Given the description of an element on the screen output the (x, y) to click on. 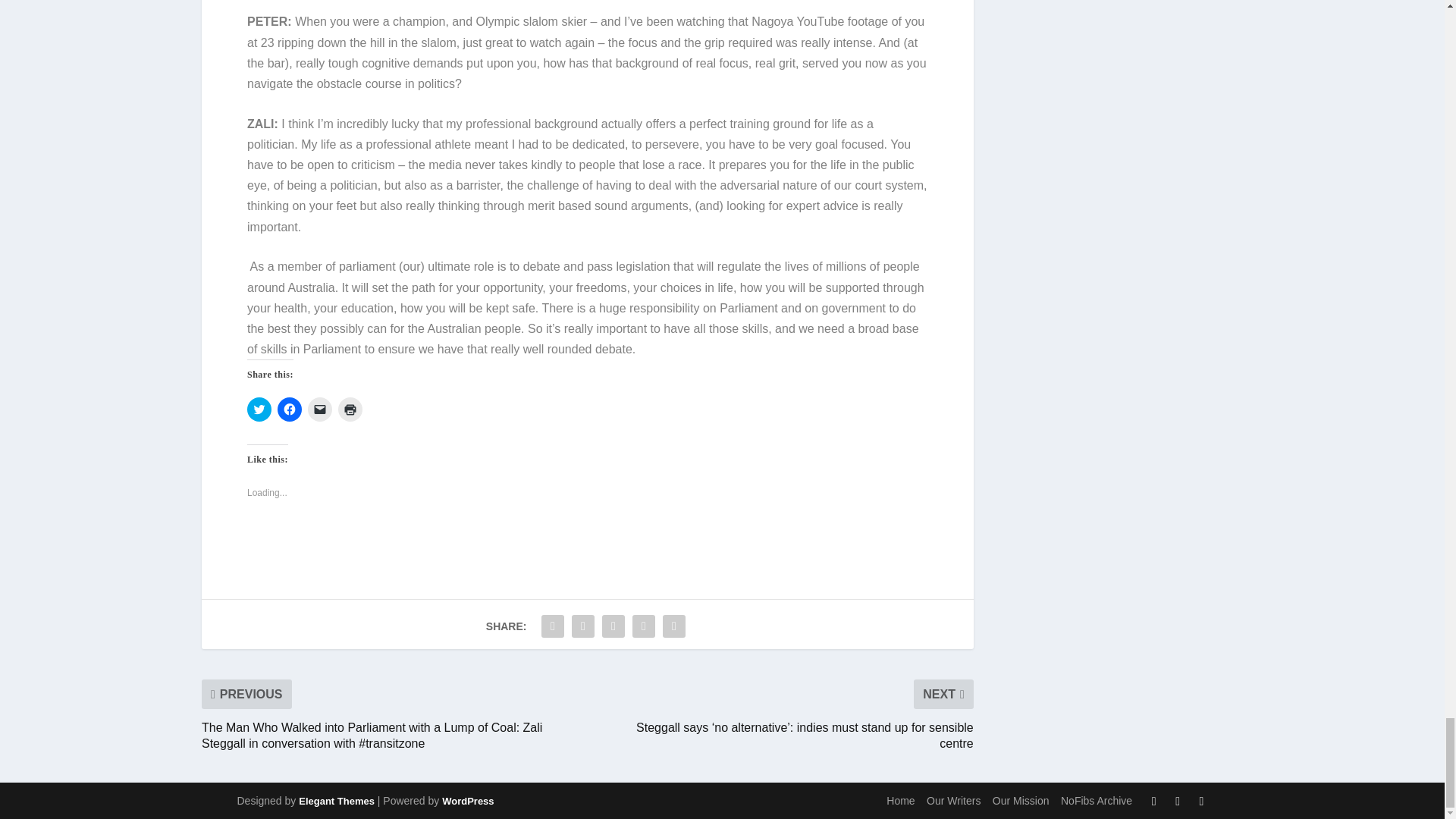
Click to share on Twitter (258, 409)
Click to email a link to a friend (319, 409)
Click to print (349, 409)
Click to share on Facebook (289, 409)
